Given the description of an element on the screen output the (x, y) to click on. 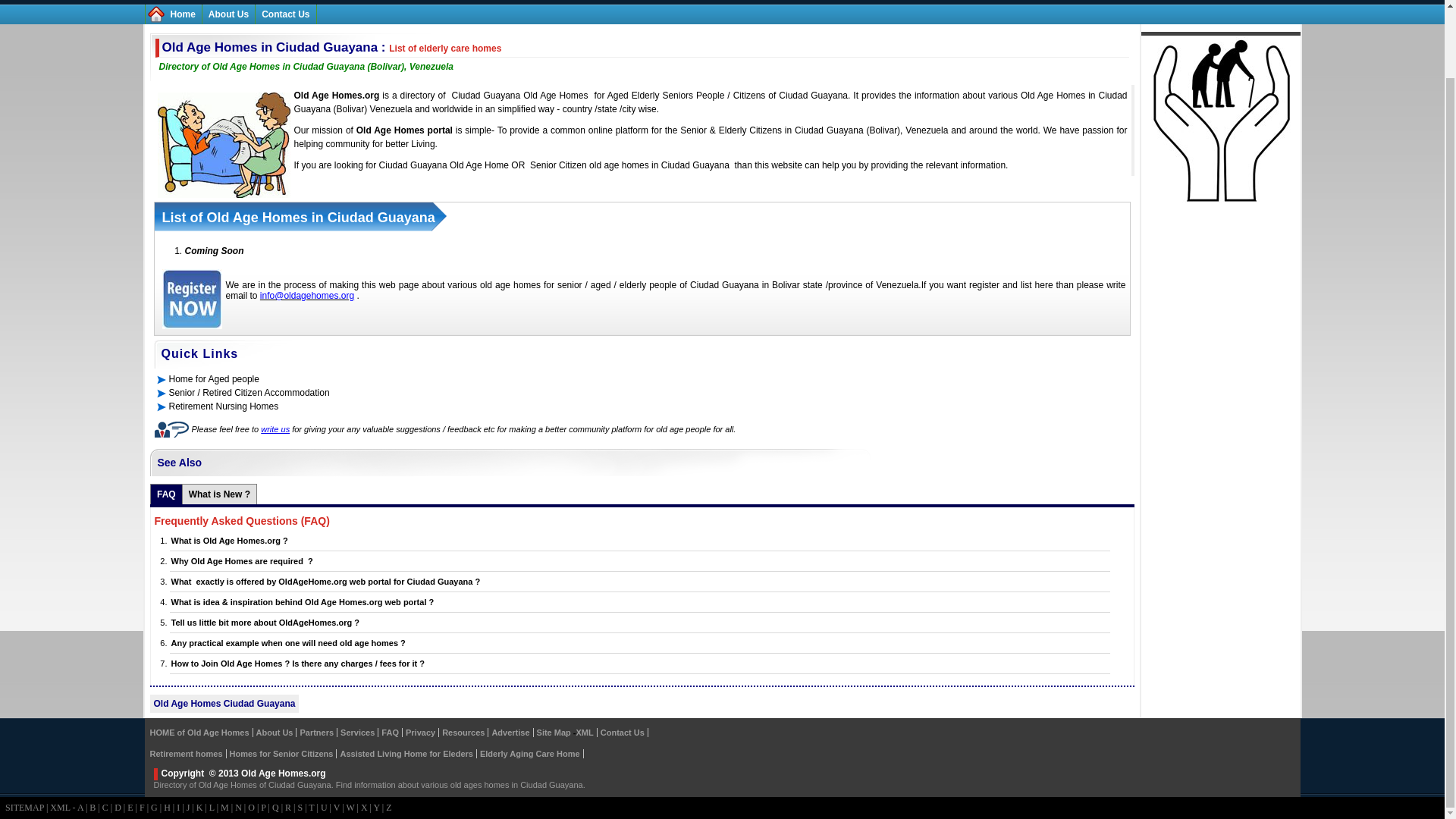
Services (357, 732)
Home of Old Age People (181, 14)
old age homes in Ciudad Guayana (659, 164)
FAQ (389, 732)
What is New ? (220, 494)
FAQ (167, 494)
About Us (275, 732)
write us (274, 429)
Contact Us (285, 14)
Partners (316, 732)
About Us (228, 14)
Privacy (420, 732)
Home (181, 14)
Old Age Homes in Ciudad Guayana : List of elderly care homes (331, 47)
Old Age Homes Ciudad Guayana (223, 703)
